Given the description of an element on the screen output the (x, y) to click on. 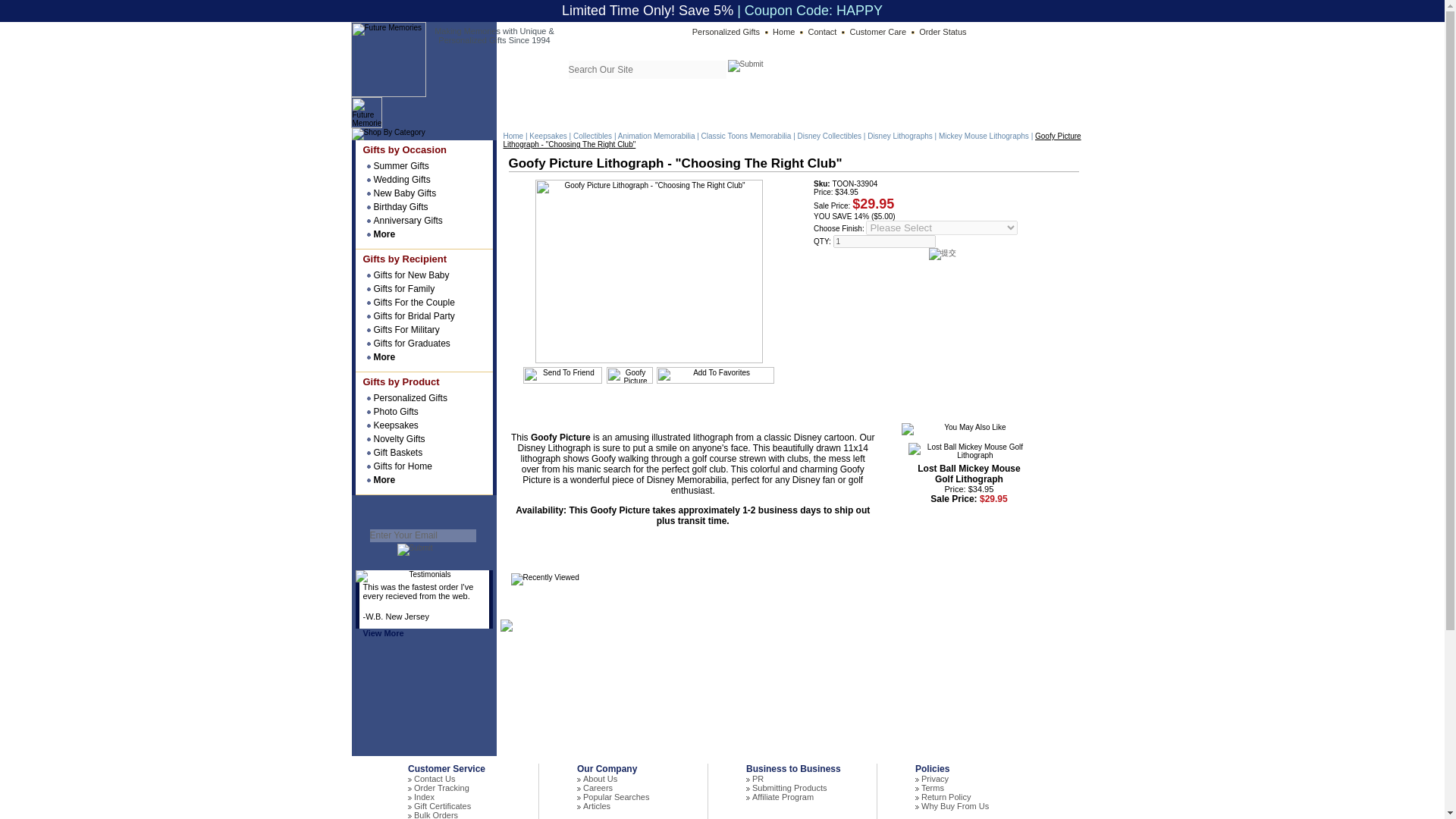
Personalized Gifts (730, 31)
Disney Lithographs (900, 135)
Disney Collectibles (829, 135)
Wedding Gifts (423, 179)
Order Status (942, 31)
1 (884, 241)
Search (745, 65)
Summer Gifts (423, 165)
Goofy Picture Lithograph - "Choosing The Right Club" (629, 375)
Collectibles (592, 135)
